Given the description of an element on the screen output the (x, y) to click on. 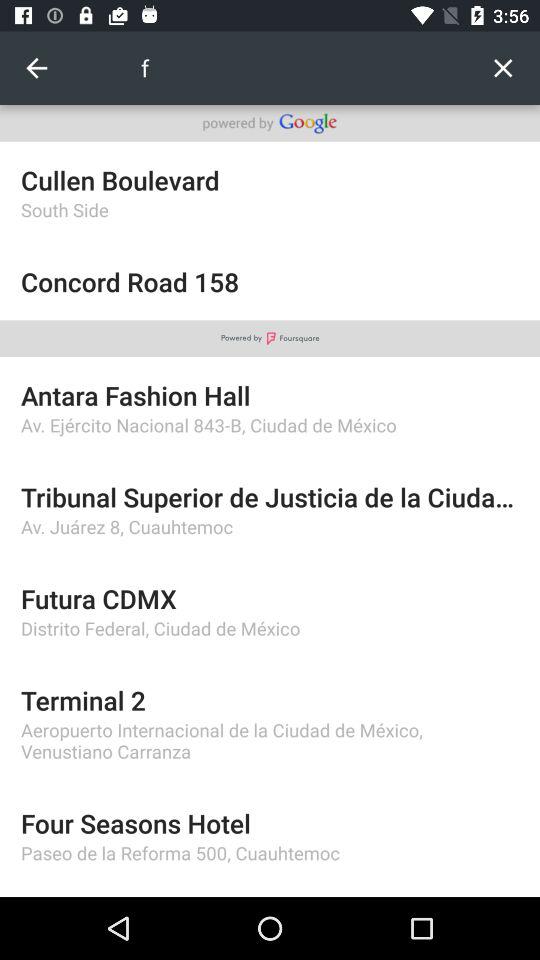
swipe to concord road 158 icon (270, 281)
